Given the description of an element on the screen output the (x, y) to click on. 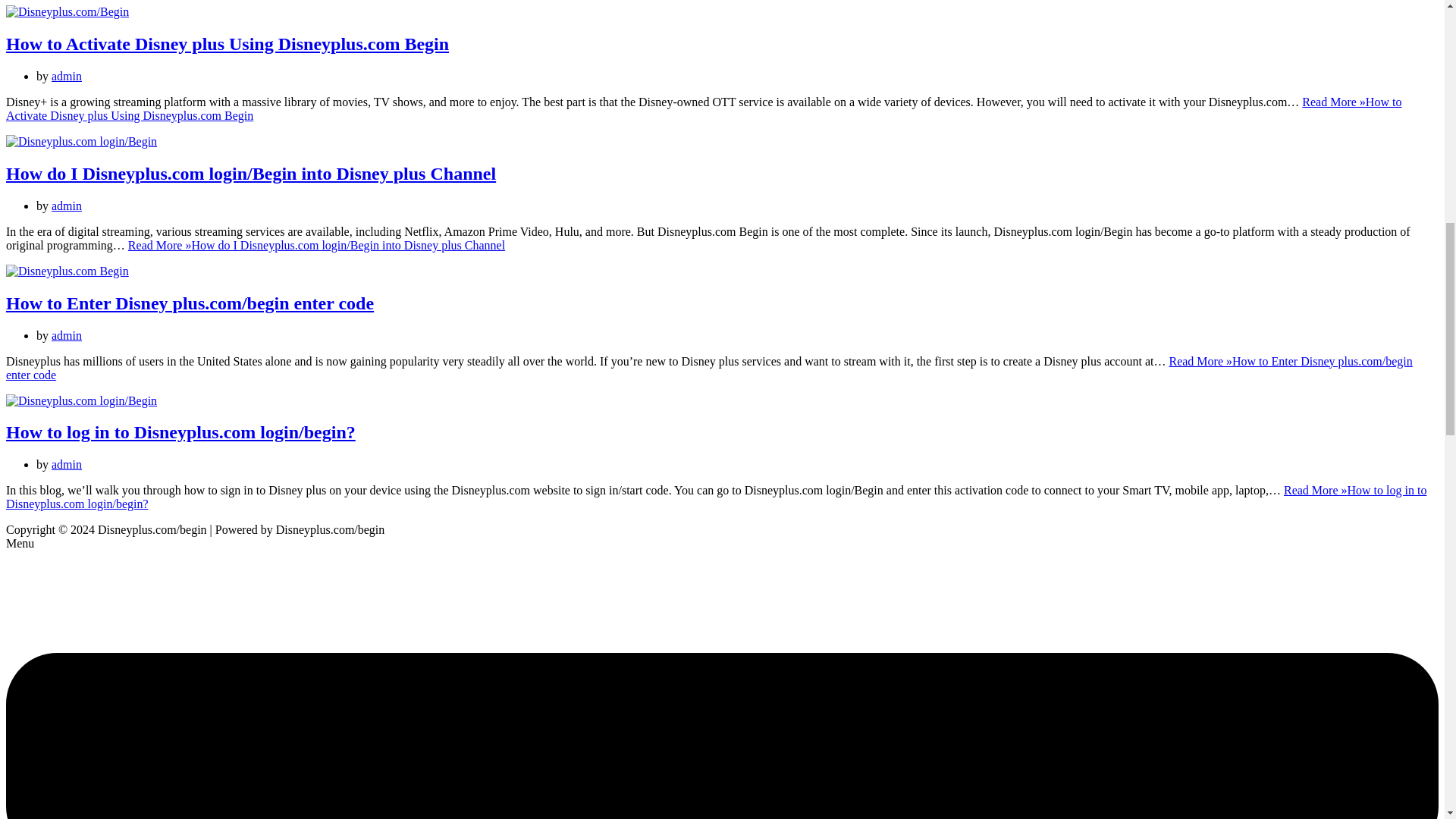
Posts by admin (65, 205)
admin (65, 75)
admin (65, 205)
Posts by admin (65, 75)
admin (65, 335)
How to Activate Disney plus Using Disneyplus.com Begin (67, 11)
How to Activate Disney plus Using Disneyplus.com Begin (226, 44)
